Given the description of an element on the screen output the (x, y) to click on. 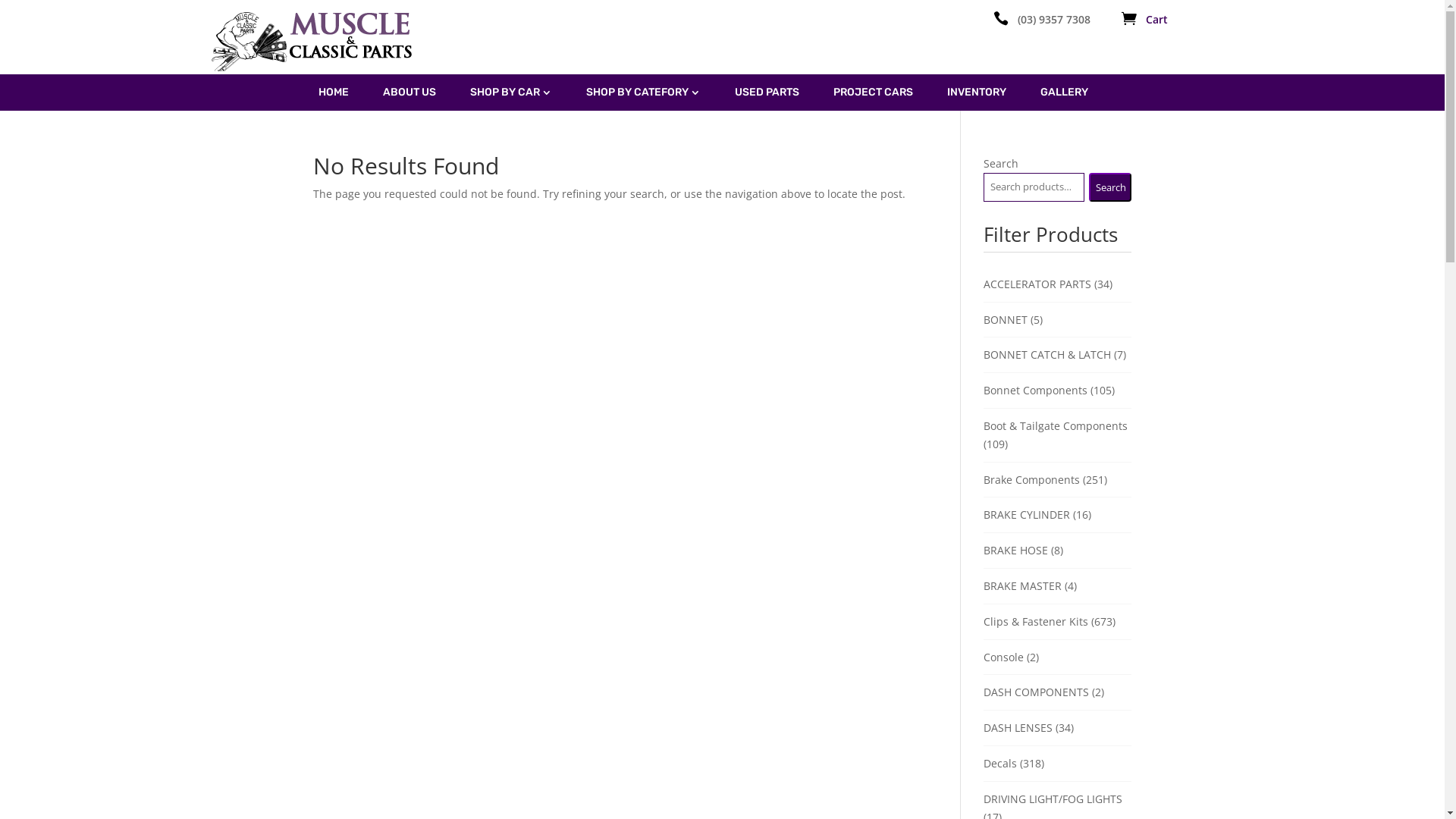
Search Element type: text (1109, 186)
logo (2) Element type: hover (313, 40)
DRIVING LIGHT/FOG LIGHTS Element type: text (1052, 798)
BONNET CATCH & LATCH Element type: text (1046, 354)
SHOP BY CAR Element type: text (510, 92)
HOME Element type: text (333, 92)
DASH COMPONENTS Element type: text (1035, 691)
ACCELERATOR PARTS Element type: text (1037, 283)
Brake Components Element type: text (1031, 479)
Console Element type: text (1003, 656)
Bonnet Components Element type: text (1035, 389)
USED PARTS Element type: text (766, 92)
INVENTORY Element type: text (975, 92)
Clips & Fastener Kits Element type: text (1035, 621)
PROJECT CARS Element type: text (872, 92)
Boot & Tailgate Components Element type: text (1055, 425)
DASH LENSES Element type: text (1017, 727)
ABOUT US Element type: text (408, 92)
BRAKE HOSE Element type: text (1015, 549)
Decals Element type: text (999, 763)
GALLERY Element type: text (1063, 92)
Cart Element type: text (1156, 19)
BRAKE CYLINDER Element type: text (1026, 514)
BONNET Element type: text (1005, 319)
SHOP BY CATEFORY Element type: text (642, 92)
BRAKE MASTER Element type: text (1022, 585)
